Given the description of an element on the screen output the (x, y) to click on. 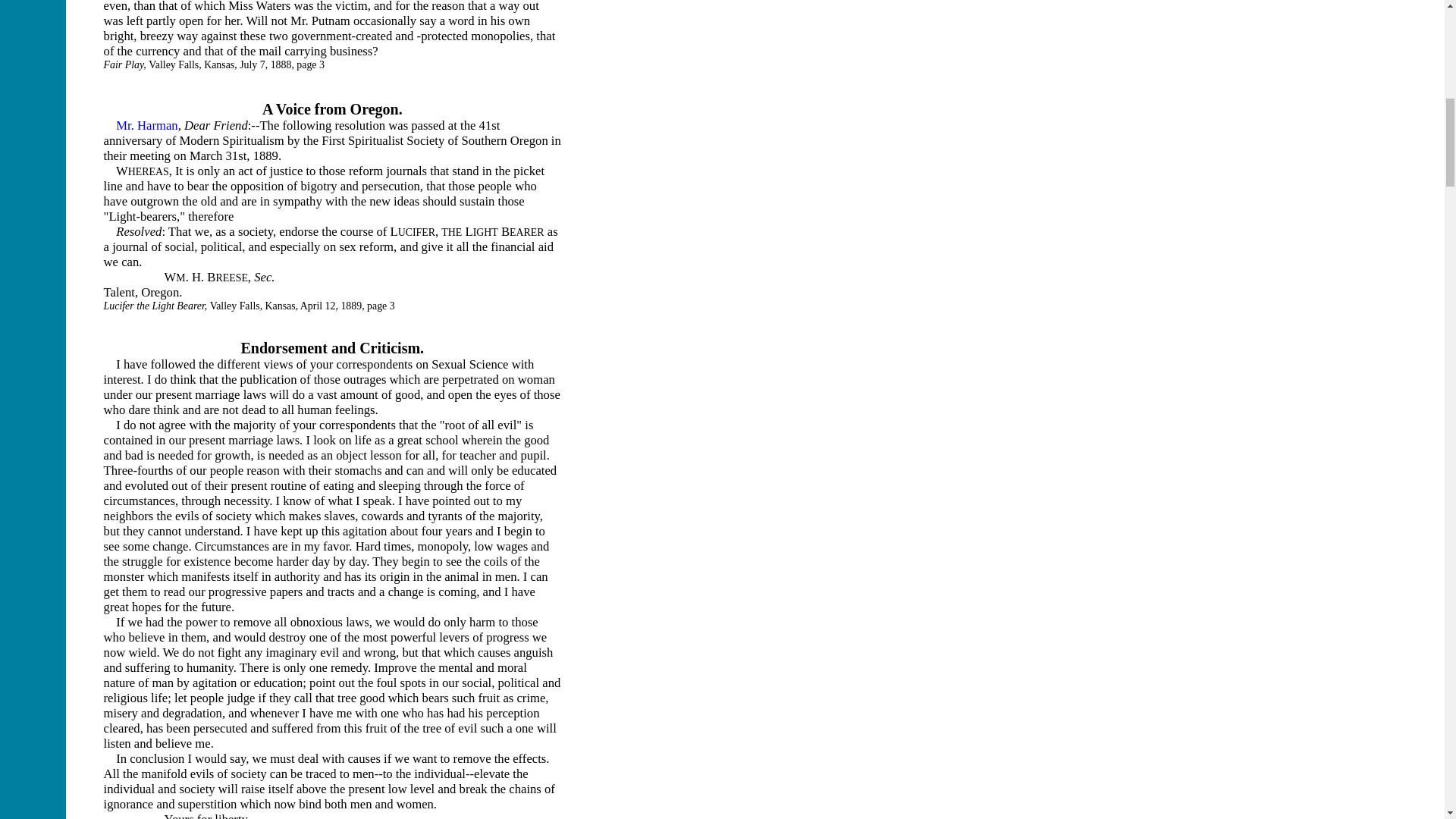
Mr. Harman (146, 124)
